Given the description of an element on the screen output the (x, y) to click on. 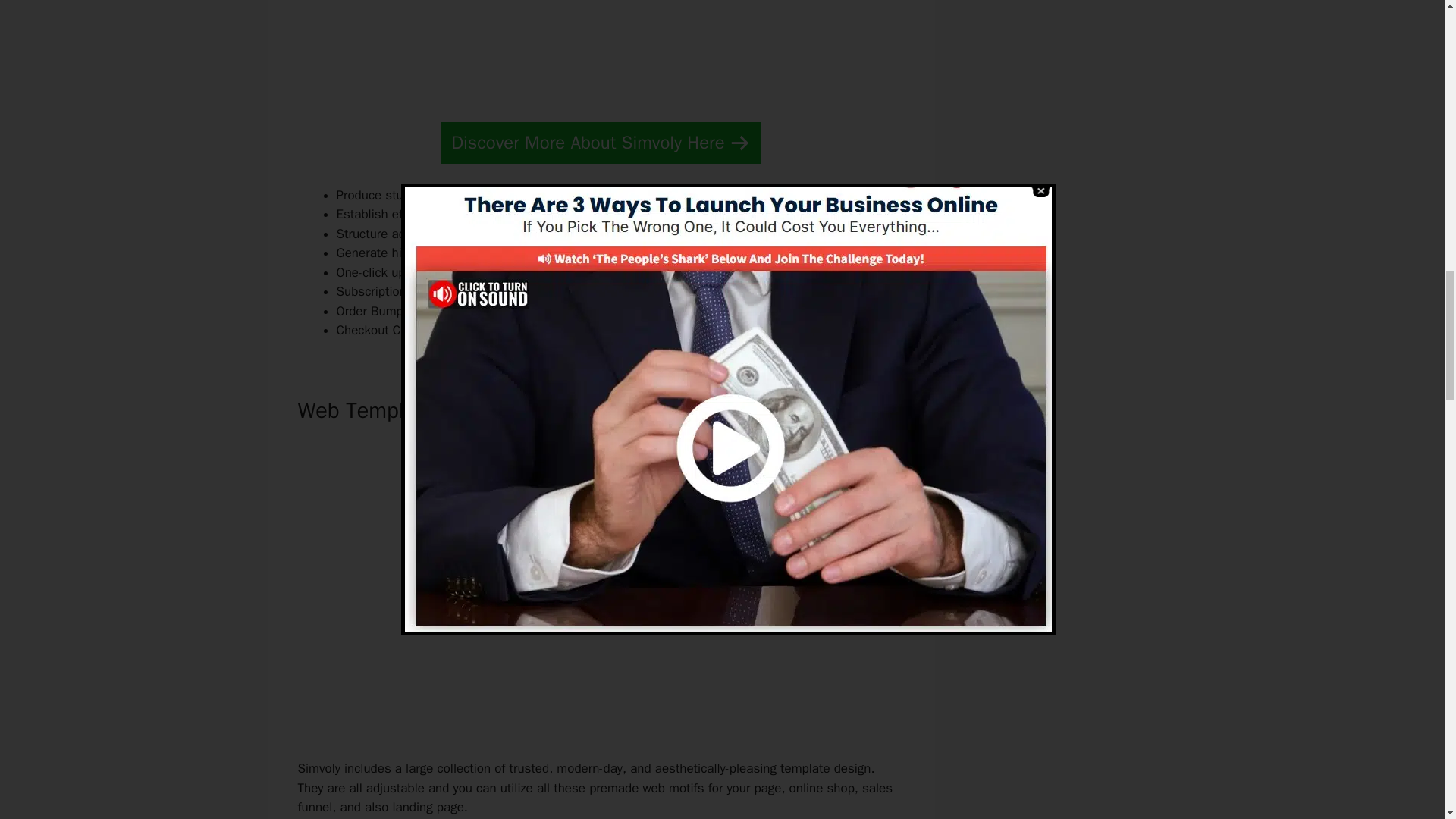
Discover More About Simvoly Here (600, 142)
